Given the description of an element on the screen output the (x, y) to click on. 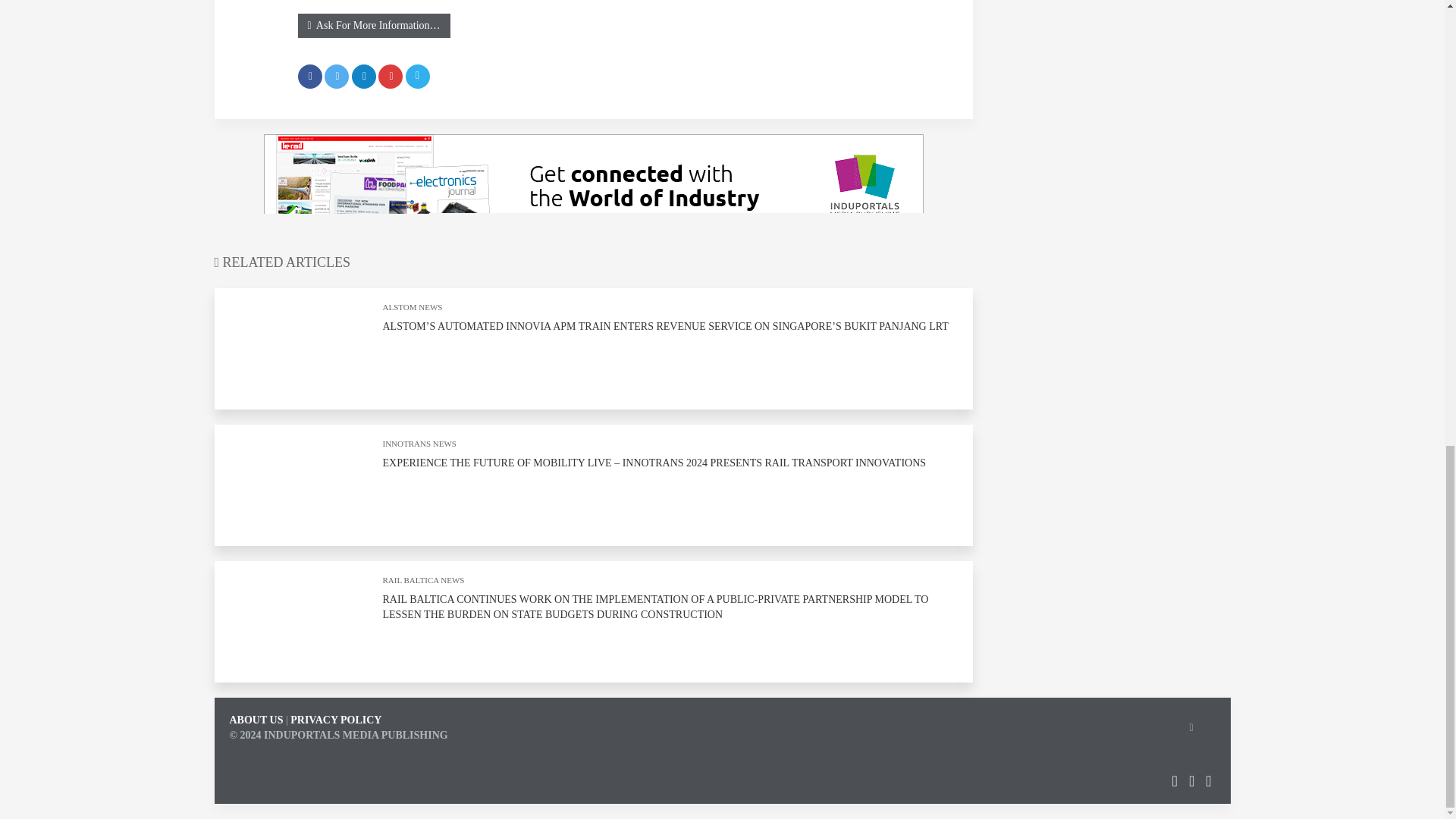
Share on Twitter (336, 76)
Share on Facebook (309, 76)
Share on LinkedIn (363, 76)
www.alstom.com (335, 5)
Share on Pinterest (390, 76)
